Given the description of an element on the screen output the (x, y) to click on. 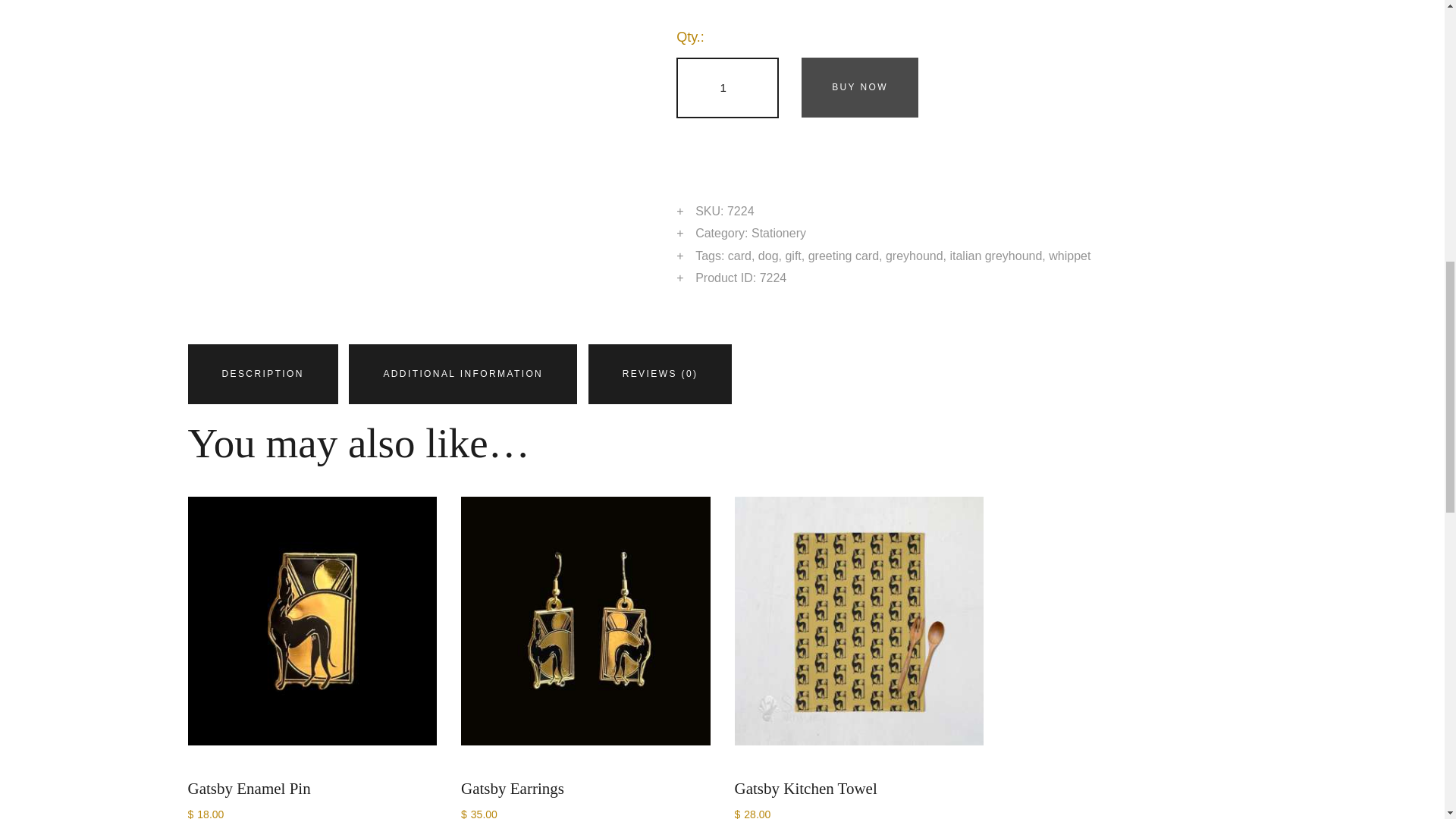
Stationery (778, 232)
BUY NOW (860, 87)
1 (727, 87)
